Given the description of an element on the screen output the (x, y) to click on. 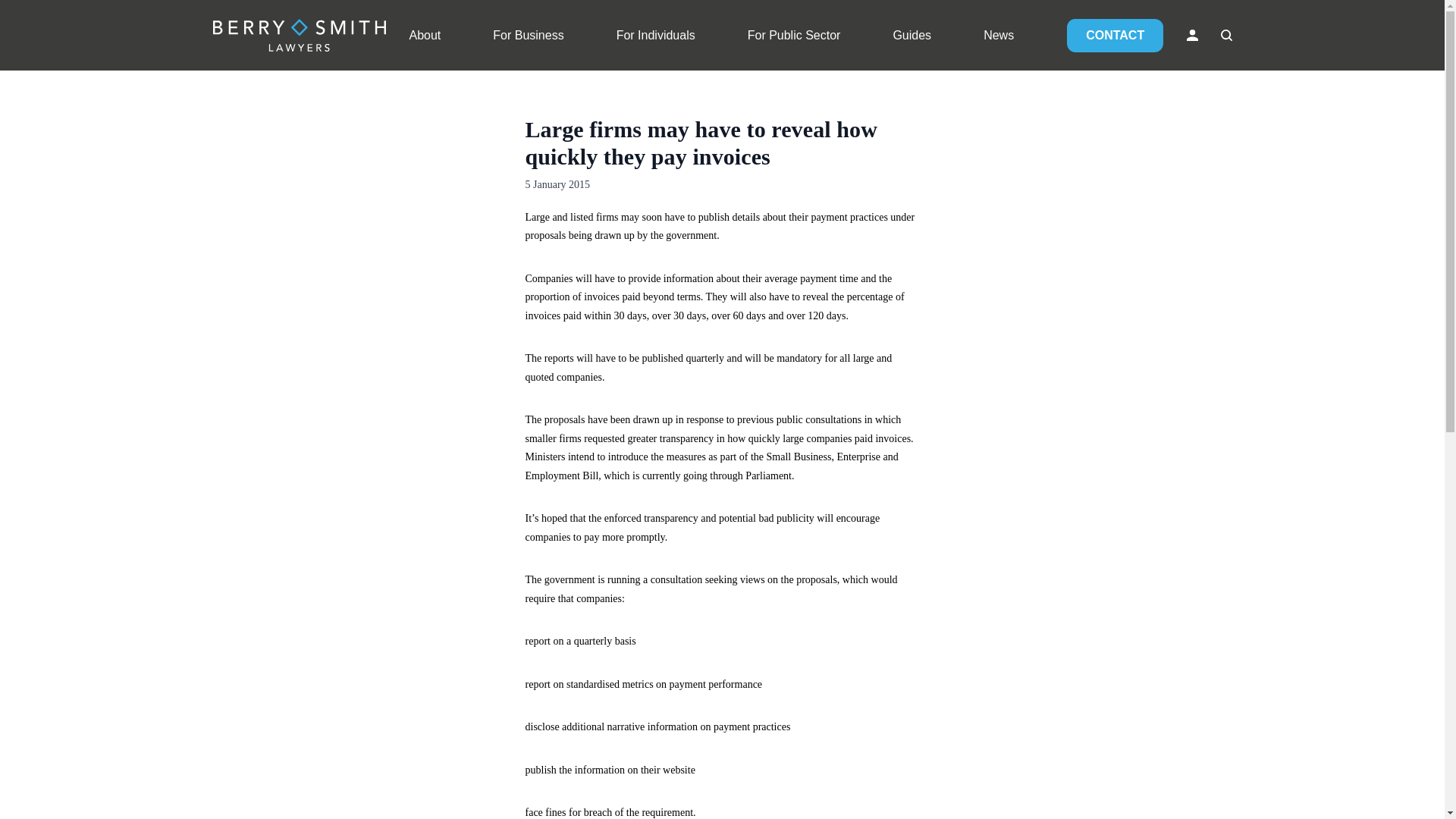
About (425, 34)
For Public Sector (794, 34)
For Business (528, 34)
For Individuals (655, 34)
